Given the description of an element on the screen output the (x, y) to click on. 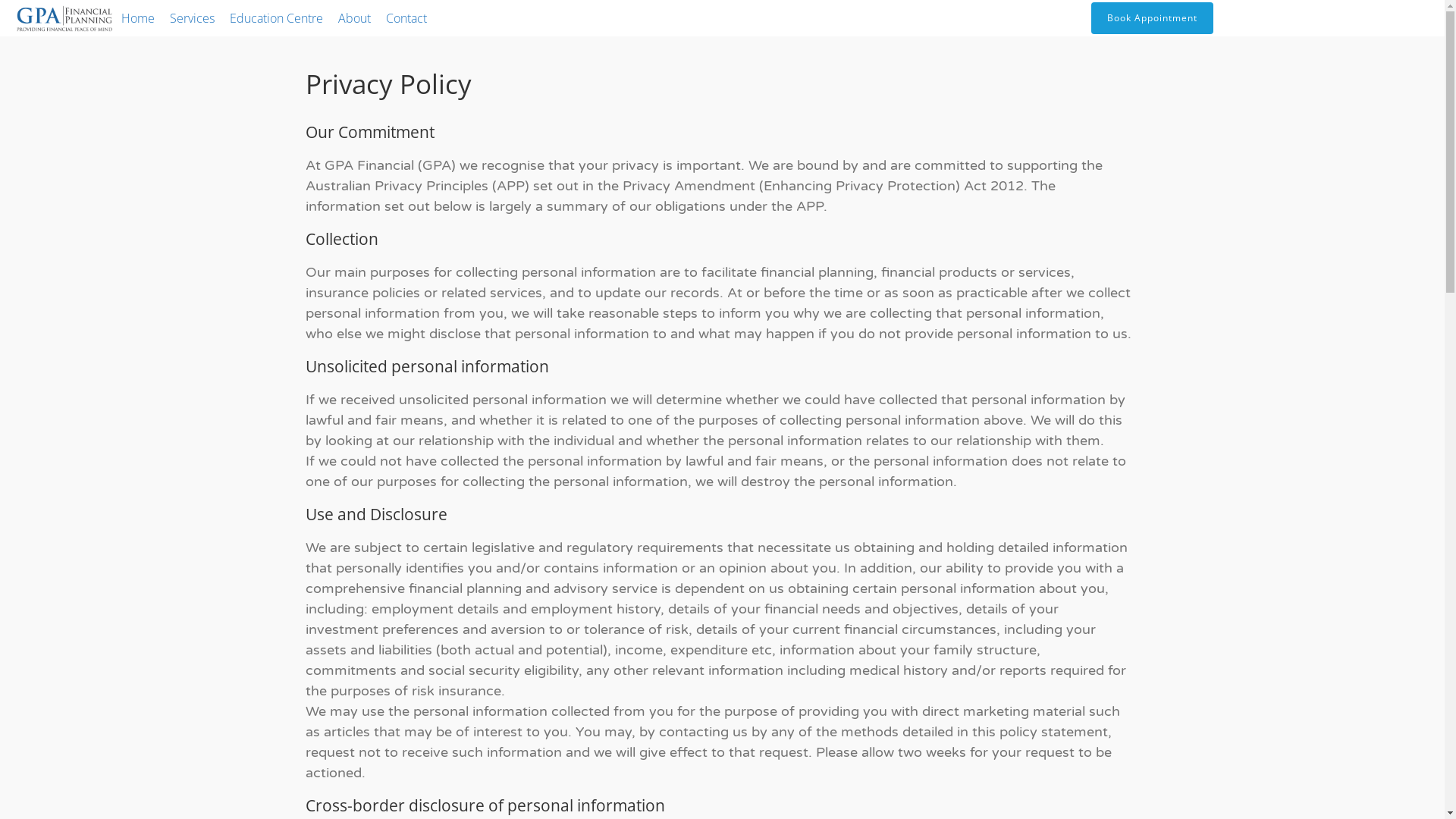
Book Appointment Element type: text (1152, 18)
Contact Element type: text (406, 18)
Home Element type: text (137, 18)
Book Appointment Element type: text (1281, 18)
Education Centre Element type: text (276, 18)
Services Element type: text (192, 18)
About Element type: text (354, 18)
